Given the description of an element on the screen output the (x, y) to click on. 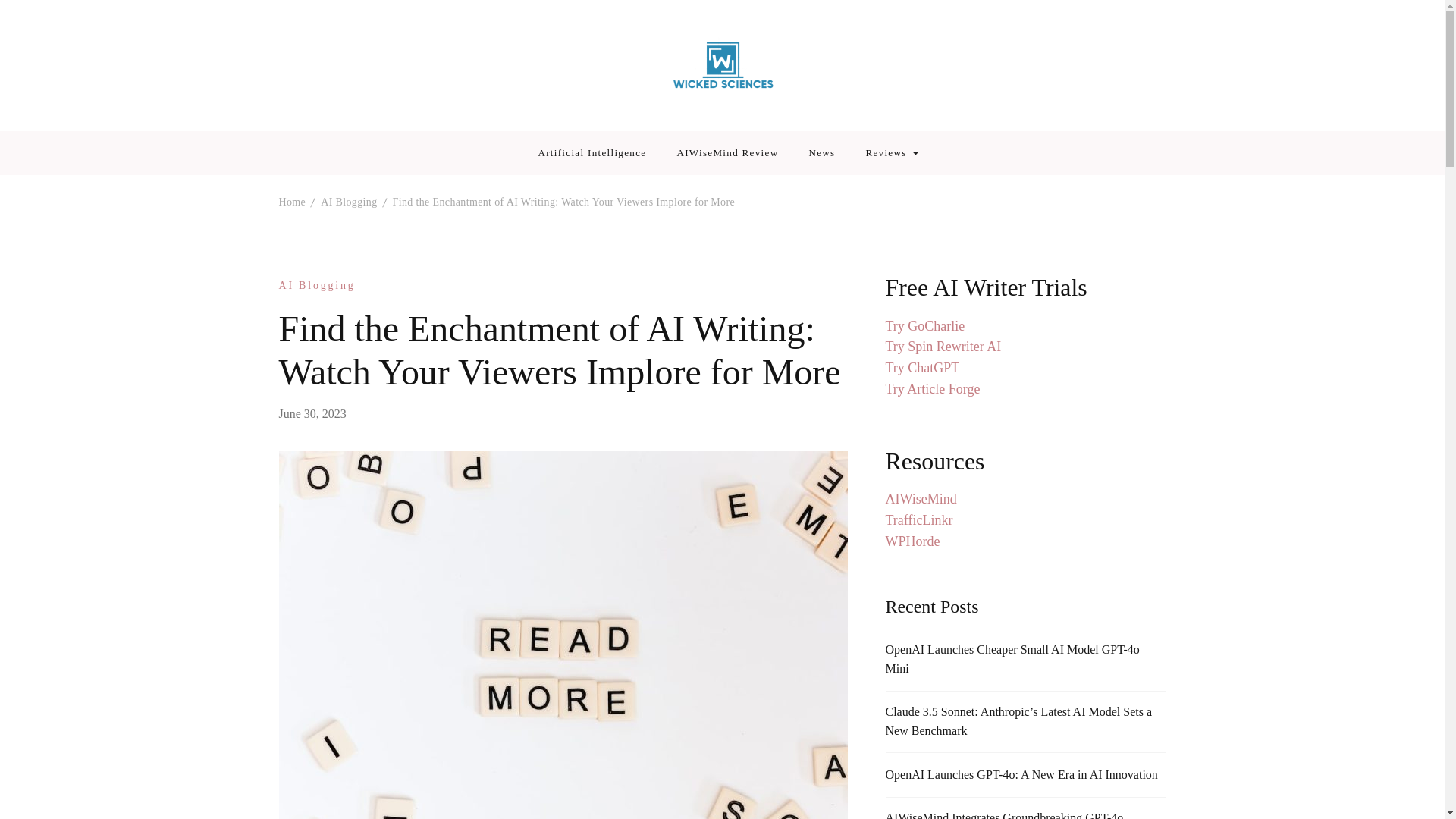
AI Blogging (348, 202)
June 30, 2023 (312, 413)
Artificial Intelligence (591, 153)
AIWiseMind Review (727, 153)
AI Blogging (317, 285)
Reviews (884, 153)
Home (292, 202)
Wicked Sciences (746, 115)
News (821, 153)
